Given the description of an element on the screen output the (x, y) to click on. 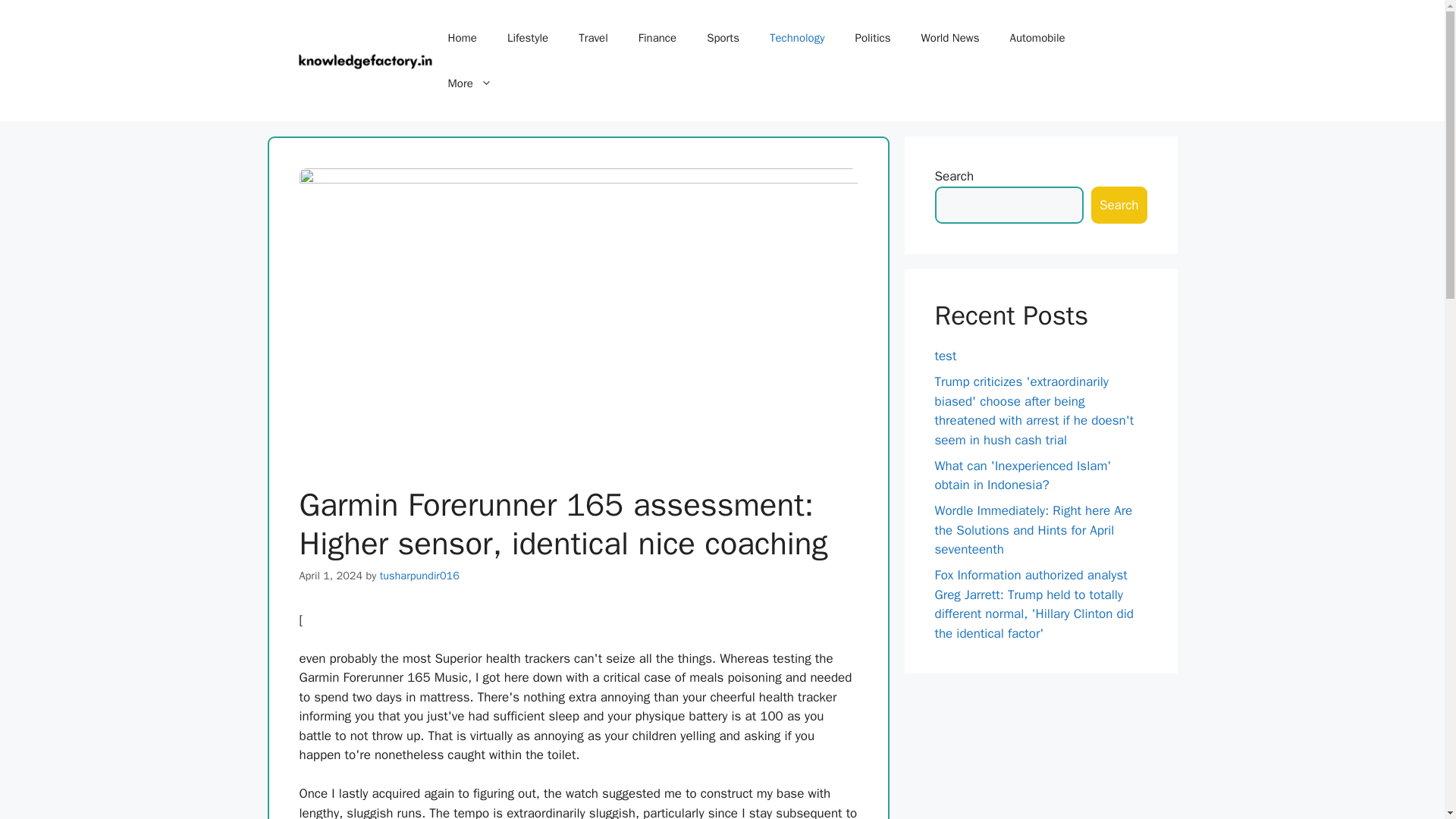
Search (1118, 205)
tusharpundir016 (420, 575)
Home (462, 37)
View all posts by tusharpundir016 (420, 575)
Sports (722, 37)
test (945, 355)
Politics (872, 37)
What can 'Inexperienced Islam' obtain in Indonesia? (1022, 475)
Lifestyle (527, 37)
Finance (657, 37)
